Given the description of an element on the screen output the (x, y) to click on. 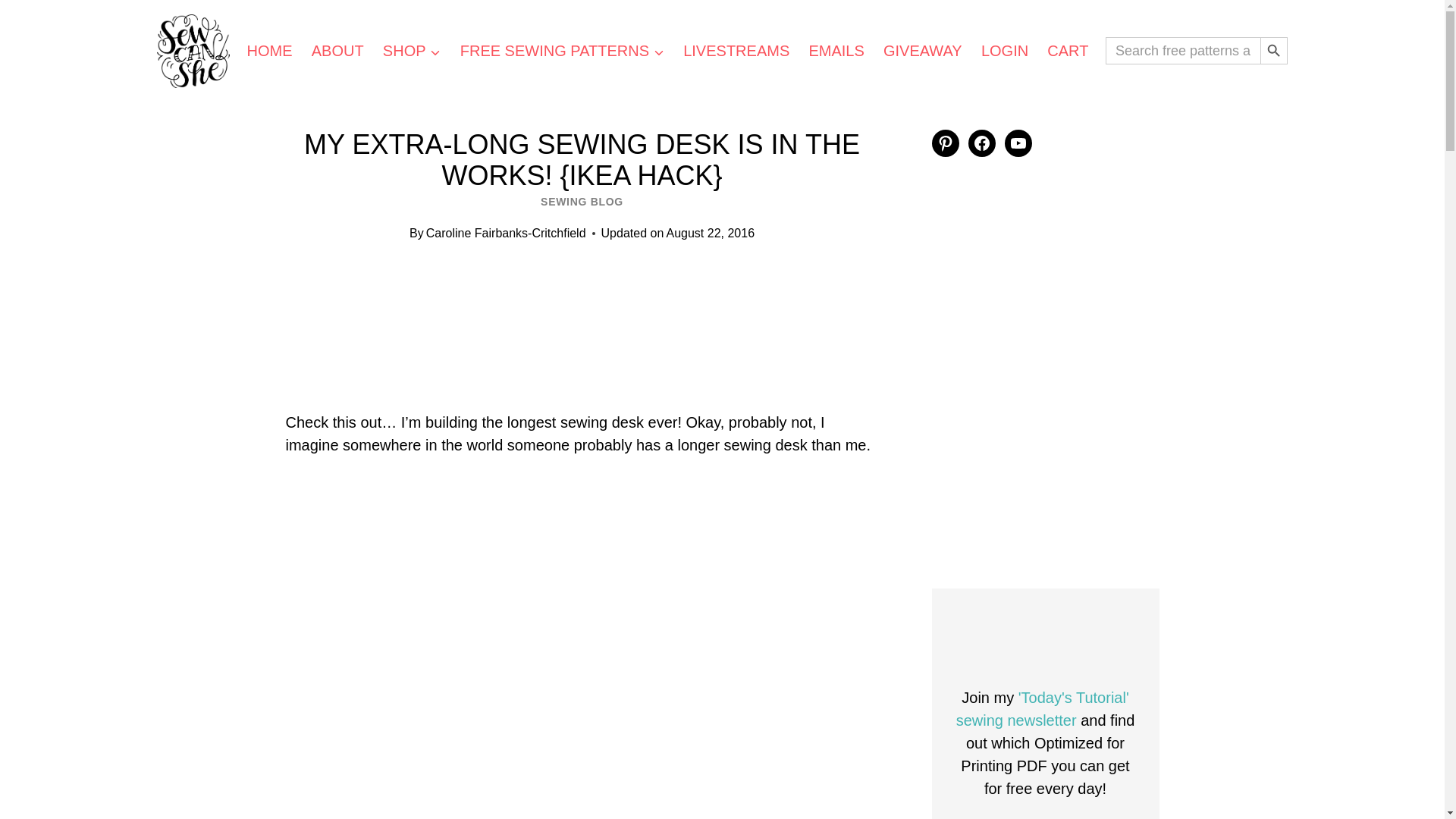
SHOP (410, 50)
LOGIN (1003, 50)
HOME (269, 50)
GIVEAWAY (922, 50)
CART (1067, 50)
LIVESTREAMS (736, 50)
EMAILS (837, 50)
FREE SEWING PATTERNS (560, 50)
SEARCH BUTTON (1273, 50)
SEWING BLOG (581, 201)
ABOUT (336, 50)
